Given the description of an element on the screen output the (x, y) to click on. 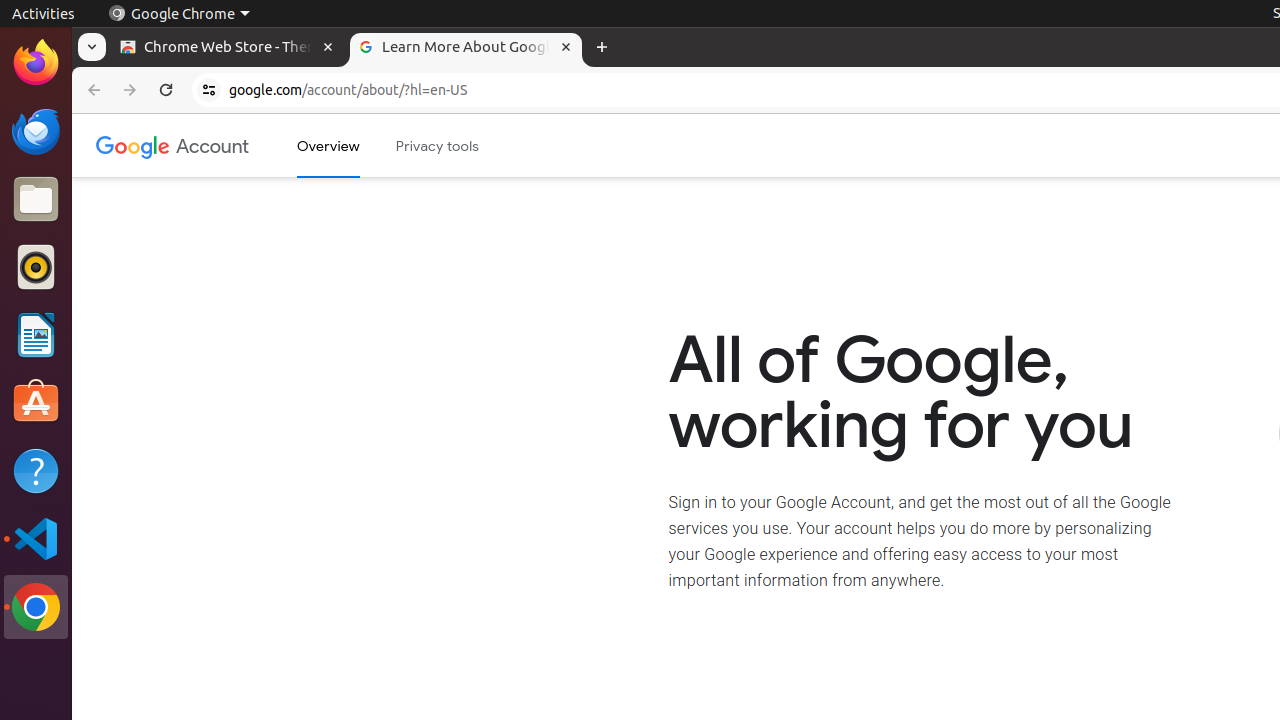
View site information Element type: push-button (209, 90)
Learn More About Google's Secure and Protected Accounts - Google Element type: page-tab (466, 47)
Ubuntu Software Element type: push-button (36, 402)
Back Element type: push-button (91, 90)
Help Element type: push-button (36, 470)
